Given the description of an element on the screen output the (x, y) to click on. 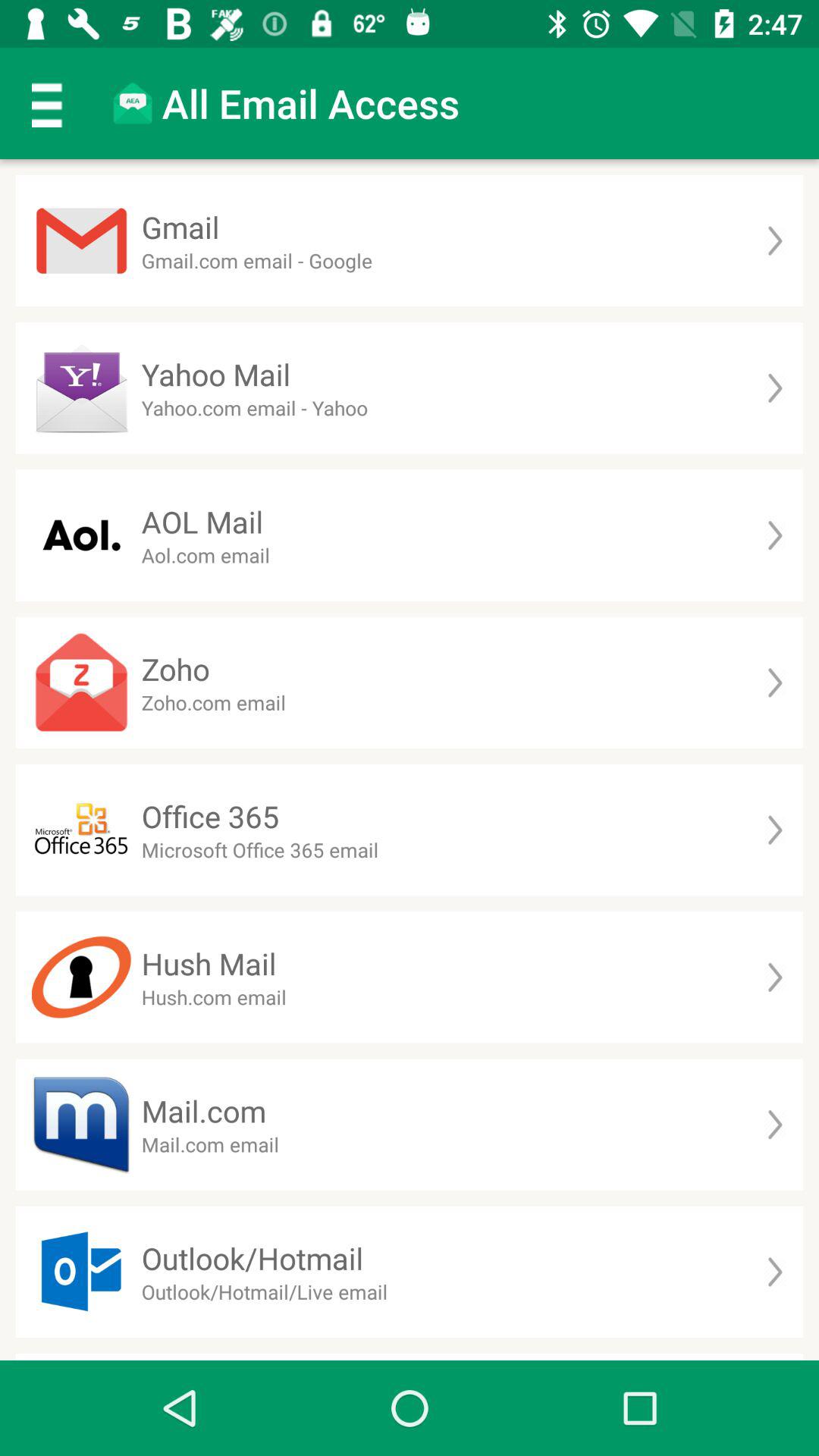
tap the app below microsoft office 365 (208, 963)
